Given the description of an element on the screen output the (x, y) to click on. 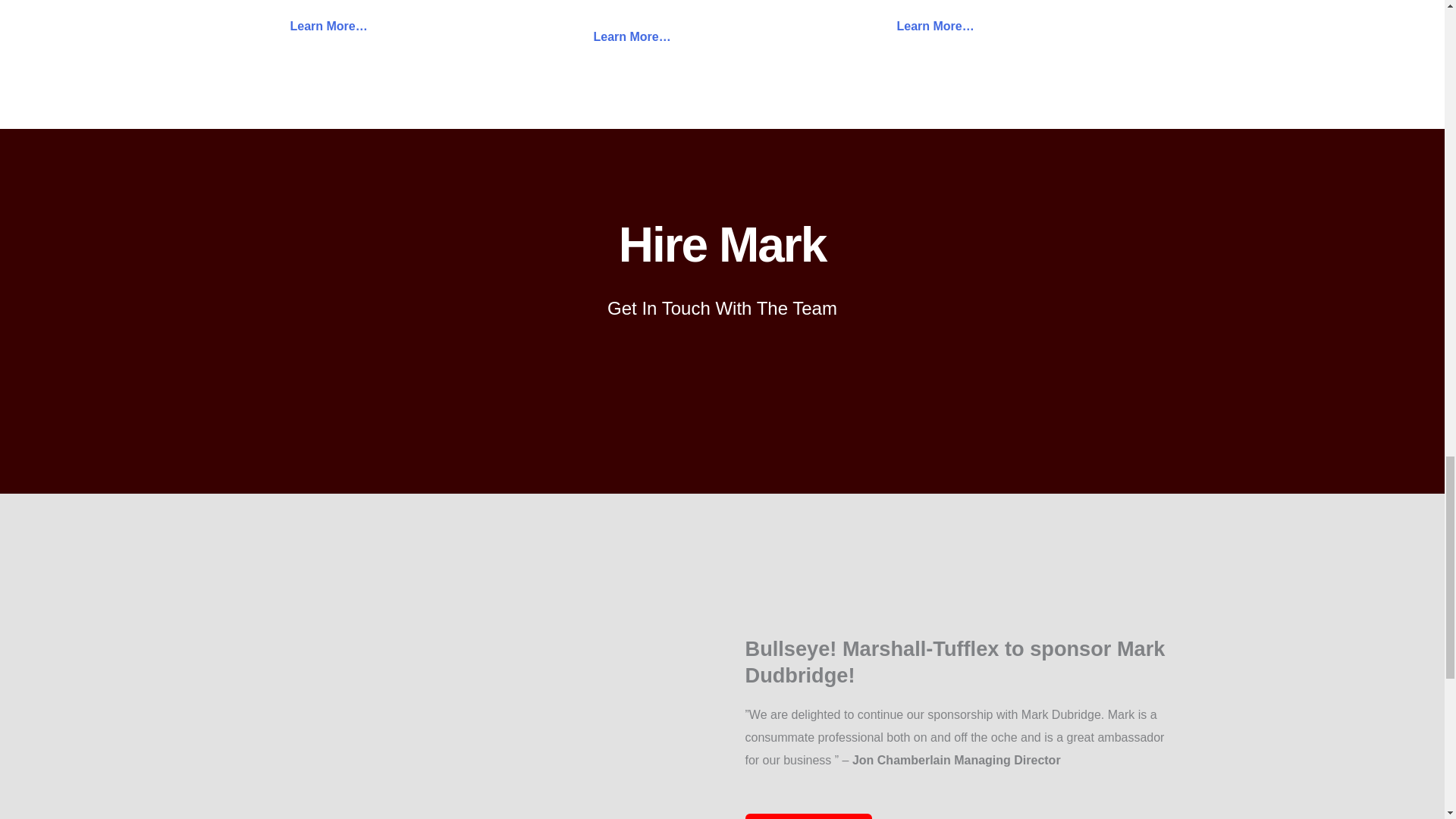
Contact Today (807, 816)
